Given the description of an element on the screen output the (x, y) to click on. 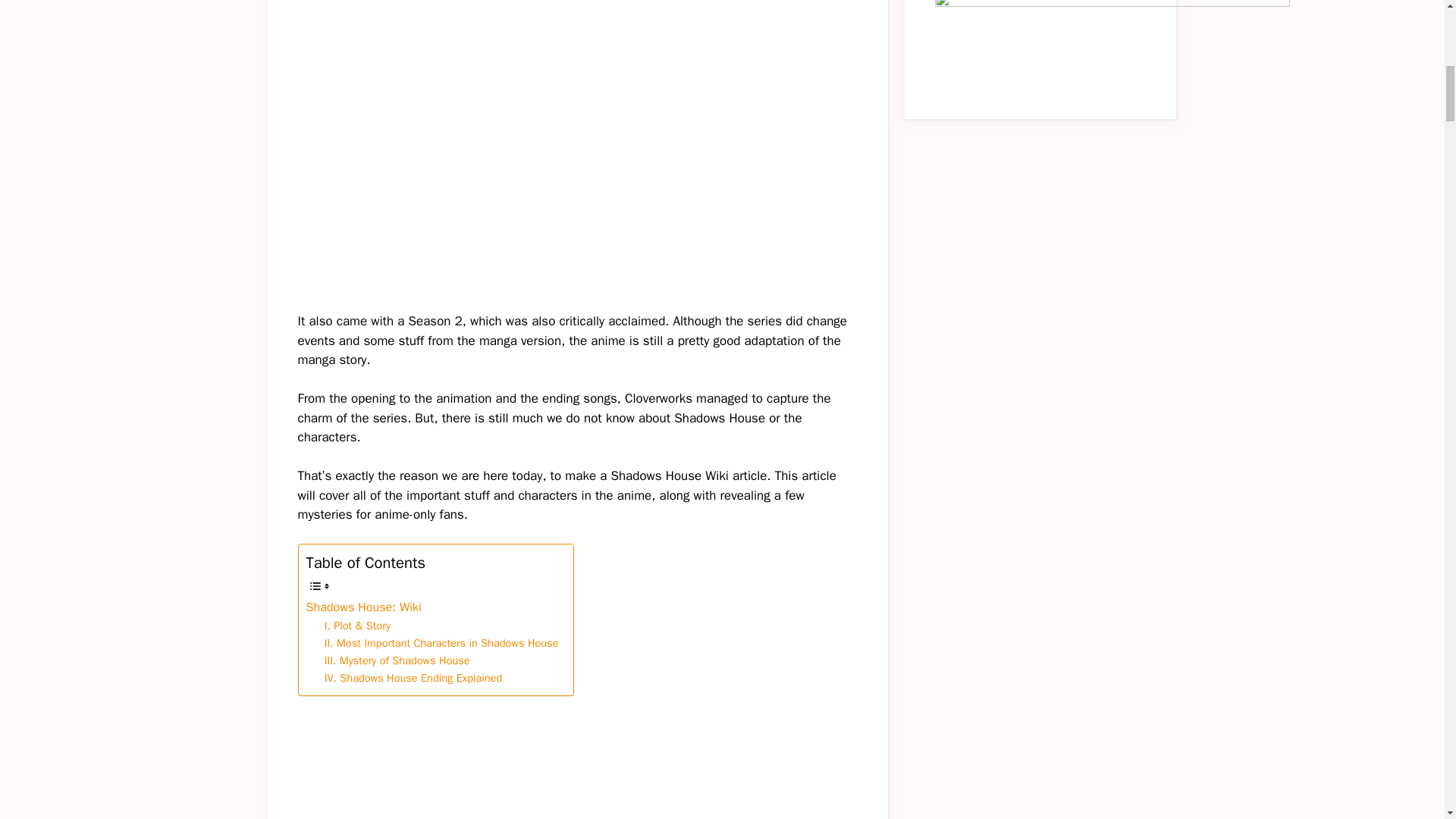
Shadows House: Wiki  (365, 607)
II. Most Important Characters in Shadows House (441, 642)
III. Mystery of Shadows House  (398, 660)
IV. Shadows House Ending Explained (413, 678)
IV. Shadows House Ending Explained (413, 678)
Scroll back to top (1406, 720)
II. Most Important Characters in Shadows House (441, 642)
